Given the description of an element on the screen output the (x, y) to click on. 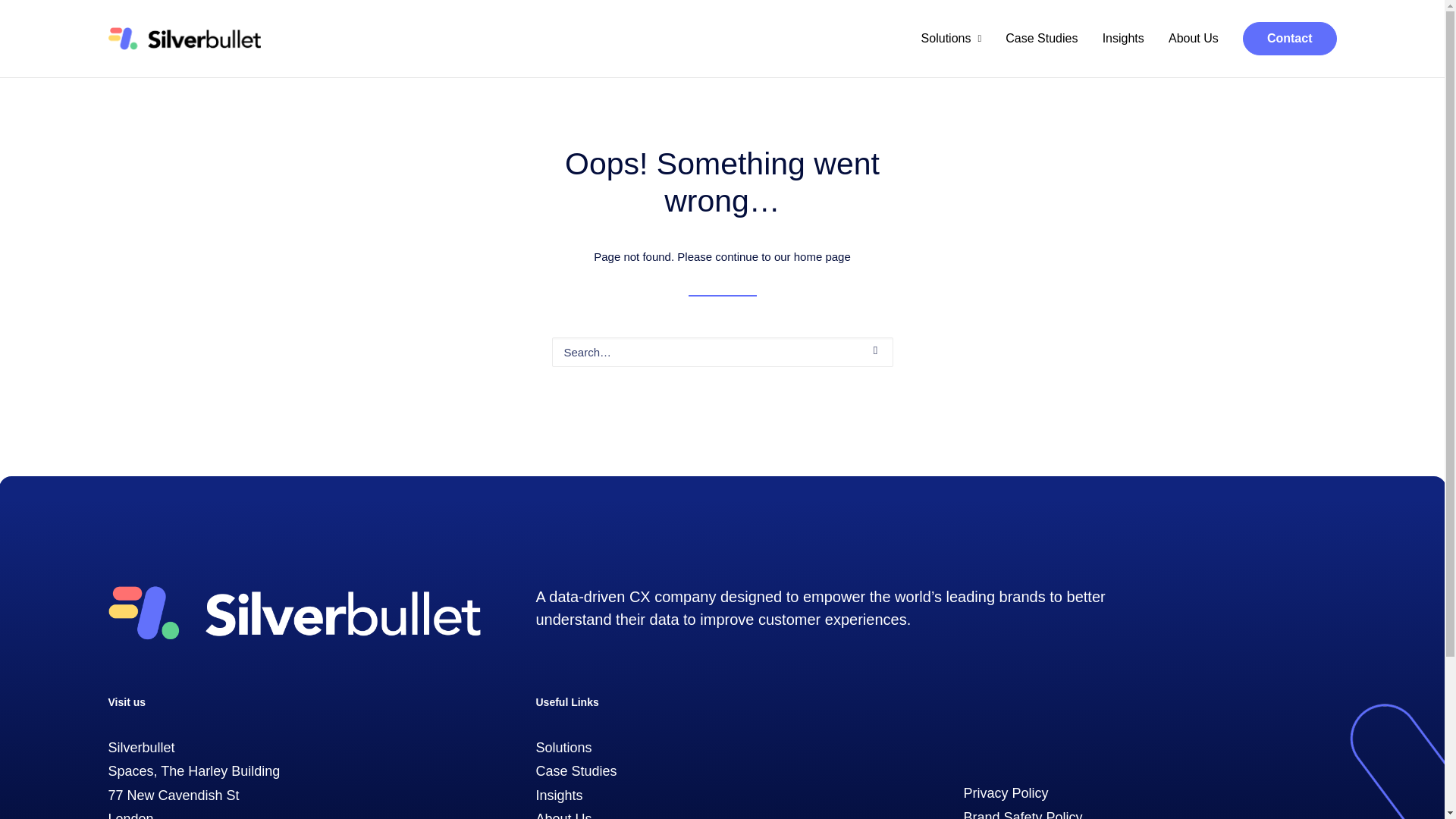
About Us (1192, 38)
Solutions (956, 38)
Contact (1283, 38)
Insights (558, 795)
Case Studies (575, 770)
About Us (563, 815)
Solutions (563, 747)
Insights (558, 795)
Case Studies (1040, 38)
Solutions (956, 38)
